Given the description of an element on the screen output the (x, y) to click on. 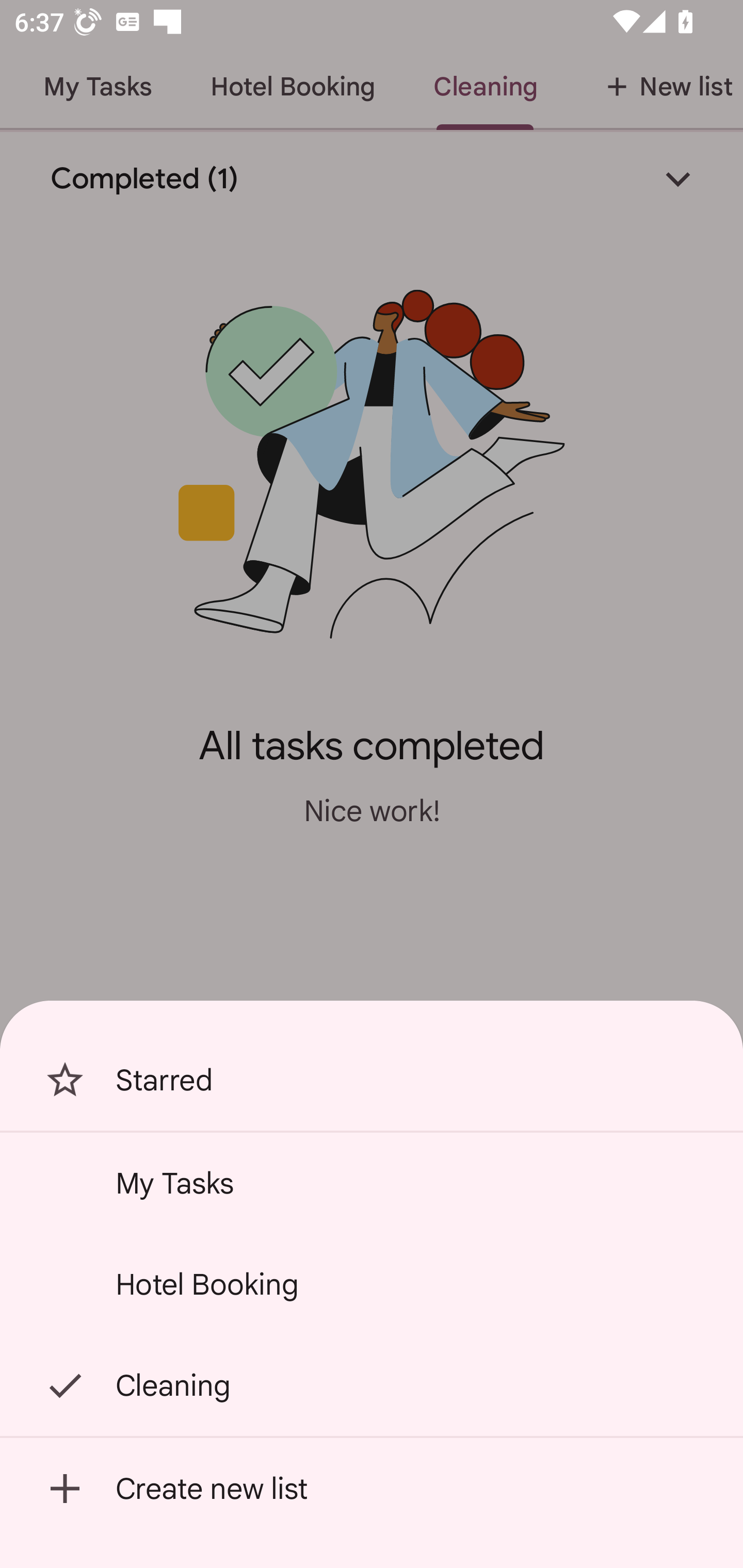
Starred (371, 1080)
My Tasks (371, 1183)
Hotel Booking (371, 1284)
Cleaning (371, 1385)
Create new list (371, 1488)
